Given the description of an element on the screen output the (x, y) to click on. 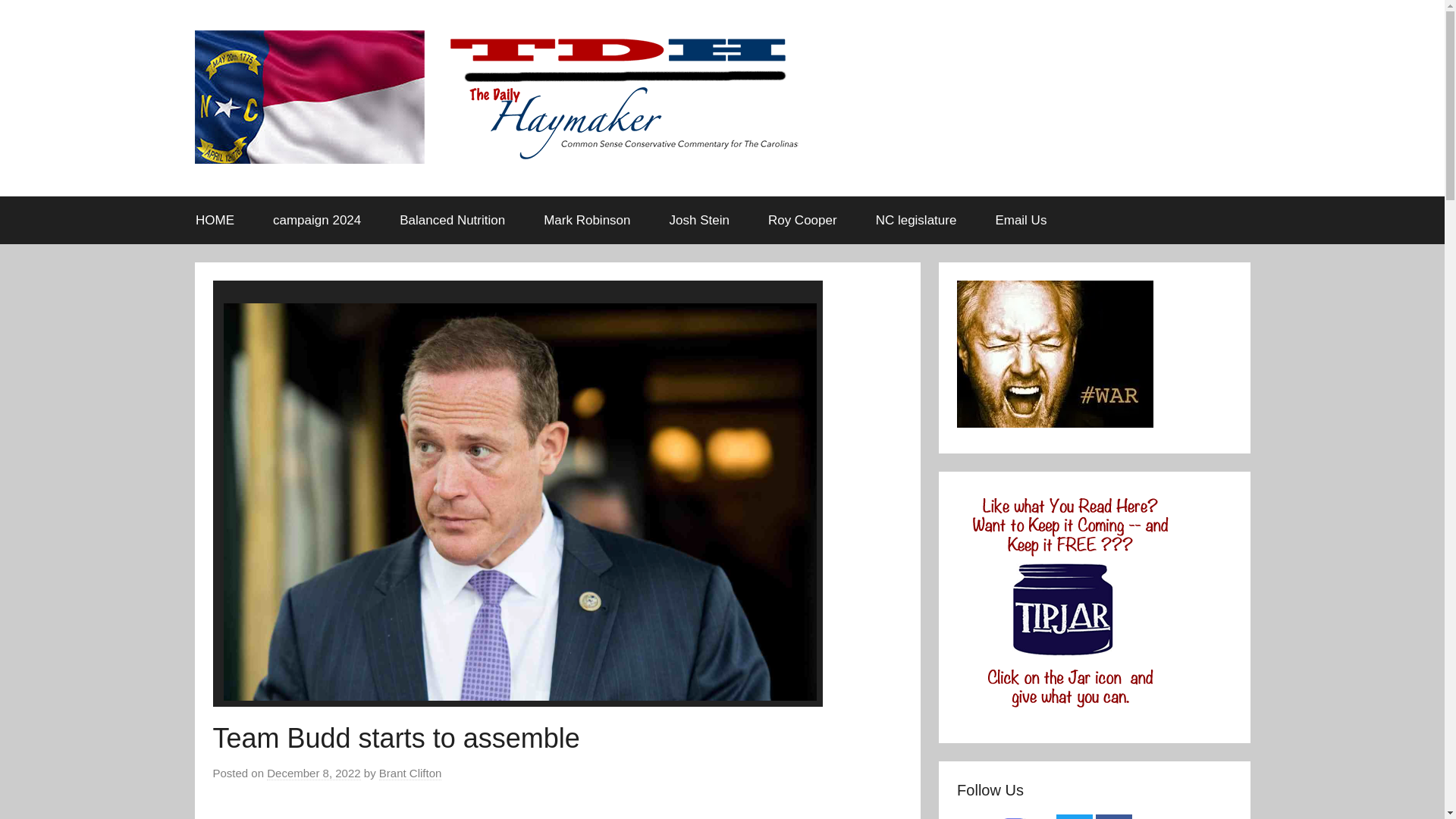
Brant Clifton (410, 773)
HOME (214, 219)
December 8, 2022 (312, 773)
Mark Robinson (586, 219)
fb (1114, 816)
View all posts by Brant Clifton (410, 773)
Balanced Nutrition (452, 219)
NC legislature (915, 219)
Roy Cooper (802, 219)
campaign 2024 (316, 219)
Josh Stein (698, 219)
Email Us (1020, 219)
twitter (1075, 816)
